Given the description of an element on the screen output the (x, y) to click on. 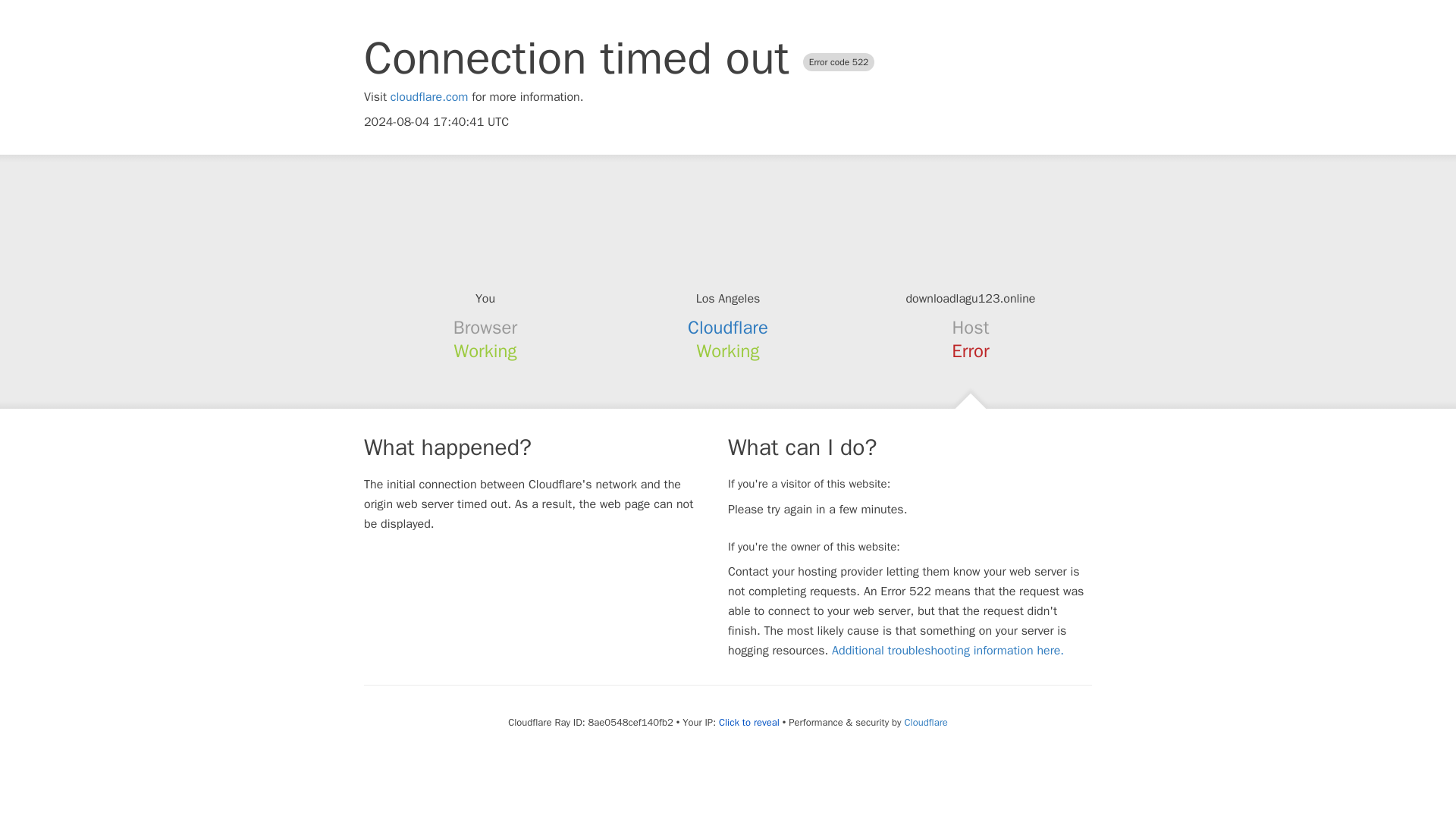
Additional troubleshooting information here. (947, 650)
Cloudflare (925, 721)
Cloudflare (727, 327)
cloudflare.com (429, 96)
Click to reveal (748, 722)
